Given the description of an element on the screen output the (x, y) to click on. 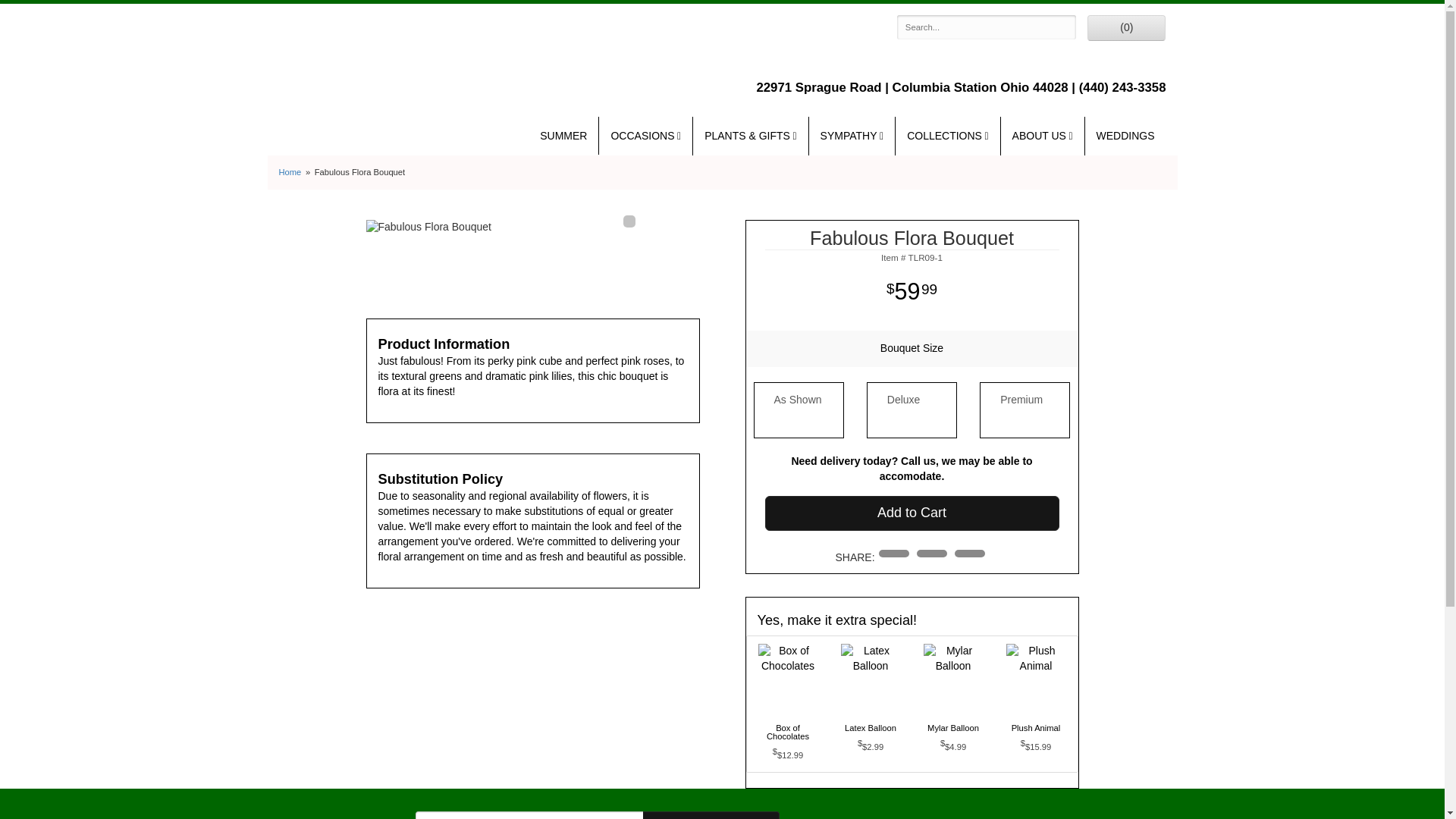
SYMPATHY (852, 136)
OCCASIONS (645, 136)
ABOUT US (1042, 136)
Subscribe (710, 815)
COLLECTIONS (946, 136)
SUMMER (563, 135)
